Given the description of an element on the screen output the (x, y) to click on. 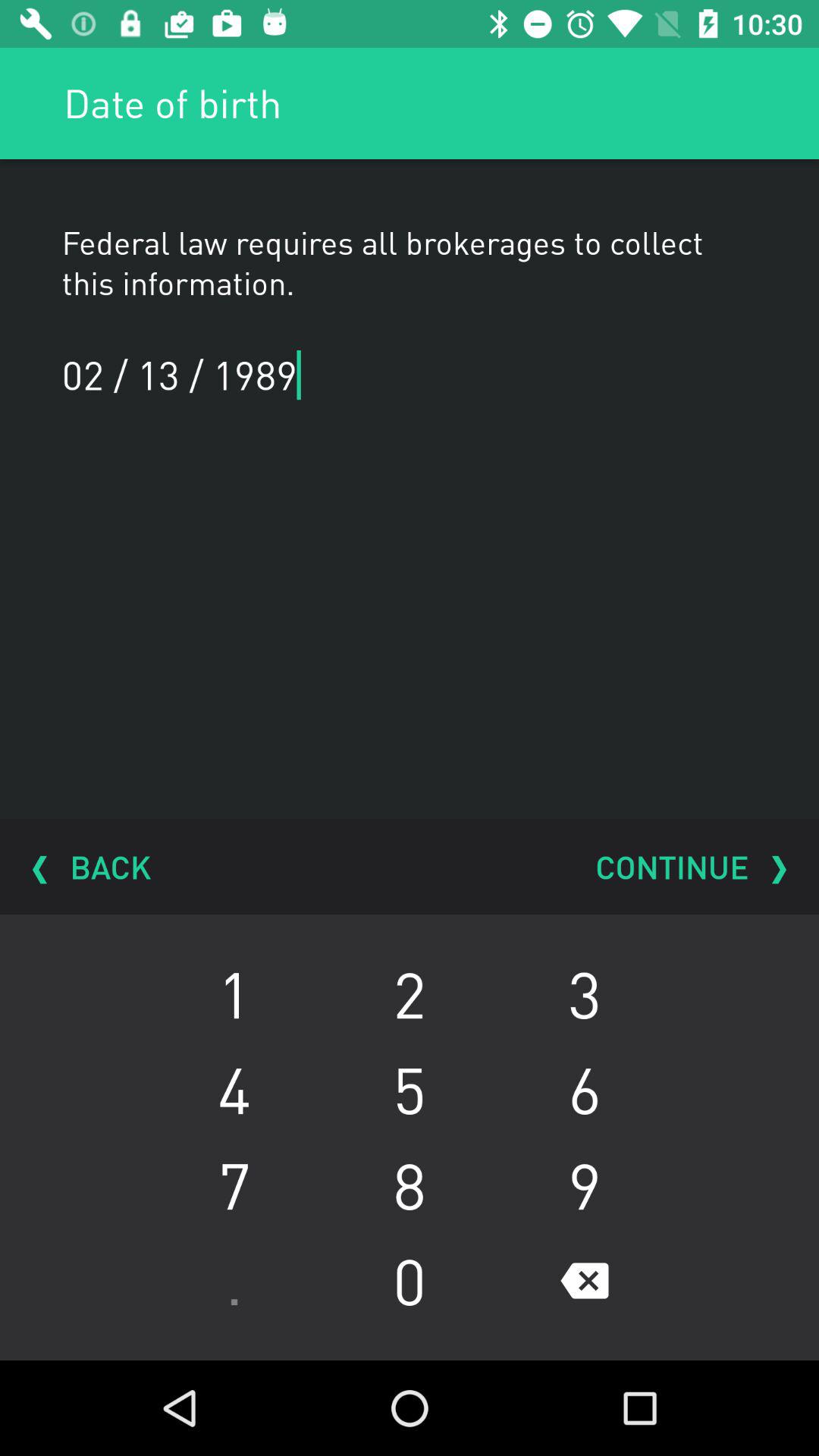
turn on the icon below the 7 icon (409, 1280)
